Given the description of an element on the screen output the (x, y) to click on. 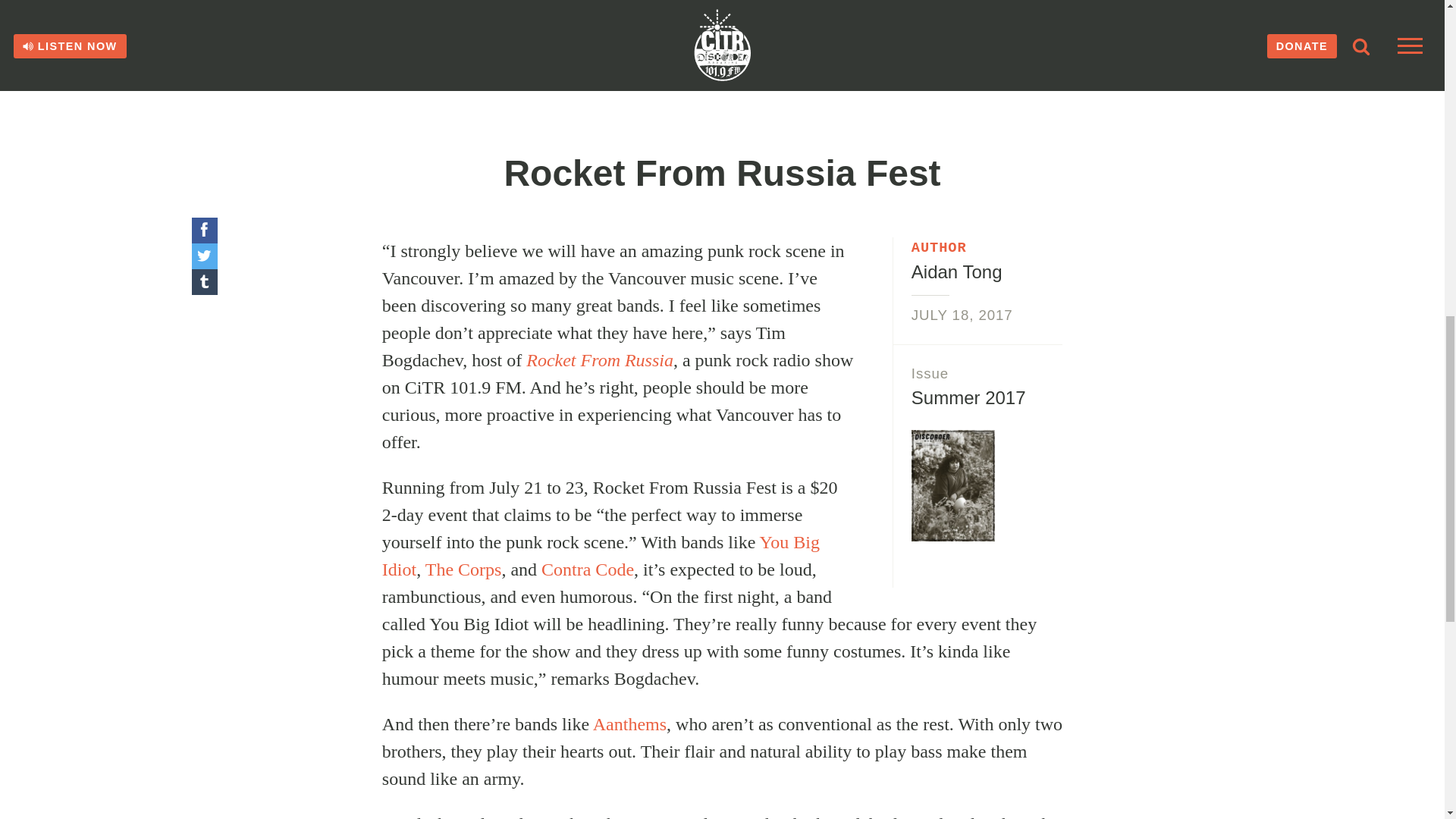
Share on Tumblr (203, 281)
Share on Twitter (203, 256)
Share on Facebook (203, 230)
